Given the description of an element on the screen output the (x, y) to click on. 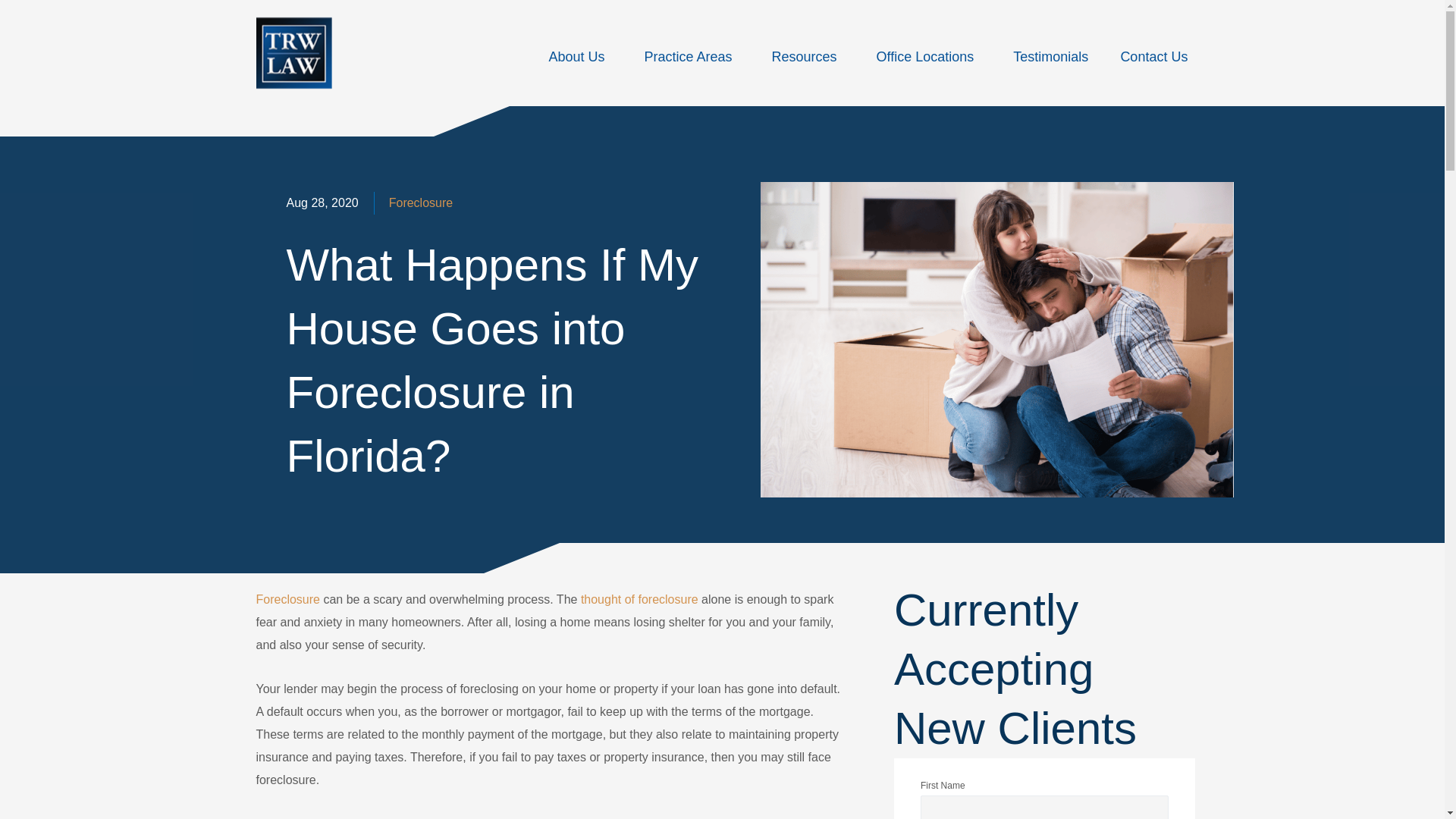
goes into foreclosure (743, 818)
Office Locations (928, 56)
thought of foreclosure (639, 599)
Practice Areas (691, 56)
Resources (808, 56)
About Us (580, 56)
Testimonials (1050, 56)
Foreclosure (420, 202)
Foreclosure (288, 599)
Contact Us (1153, 56)
